Given the description of an element on the screen output the (x, y) to click on. 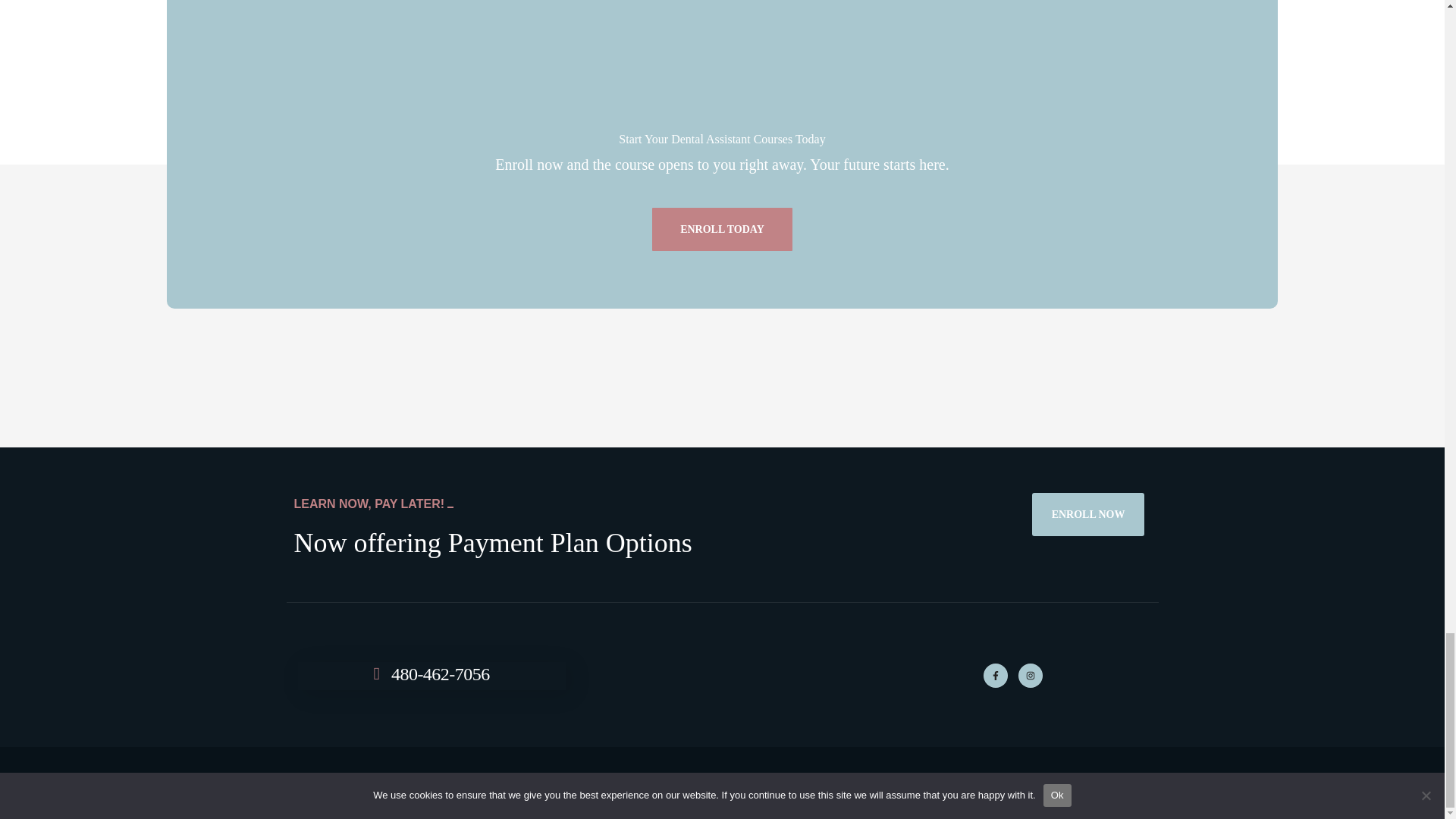
Facebook (995, 675)
logo-white (721, 74)
logo-white (721, 675)
Instagram (1029, 675)
